Given the description of an element on the screen output the (x, y) to click on. 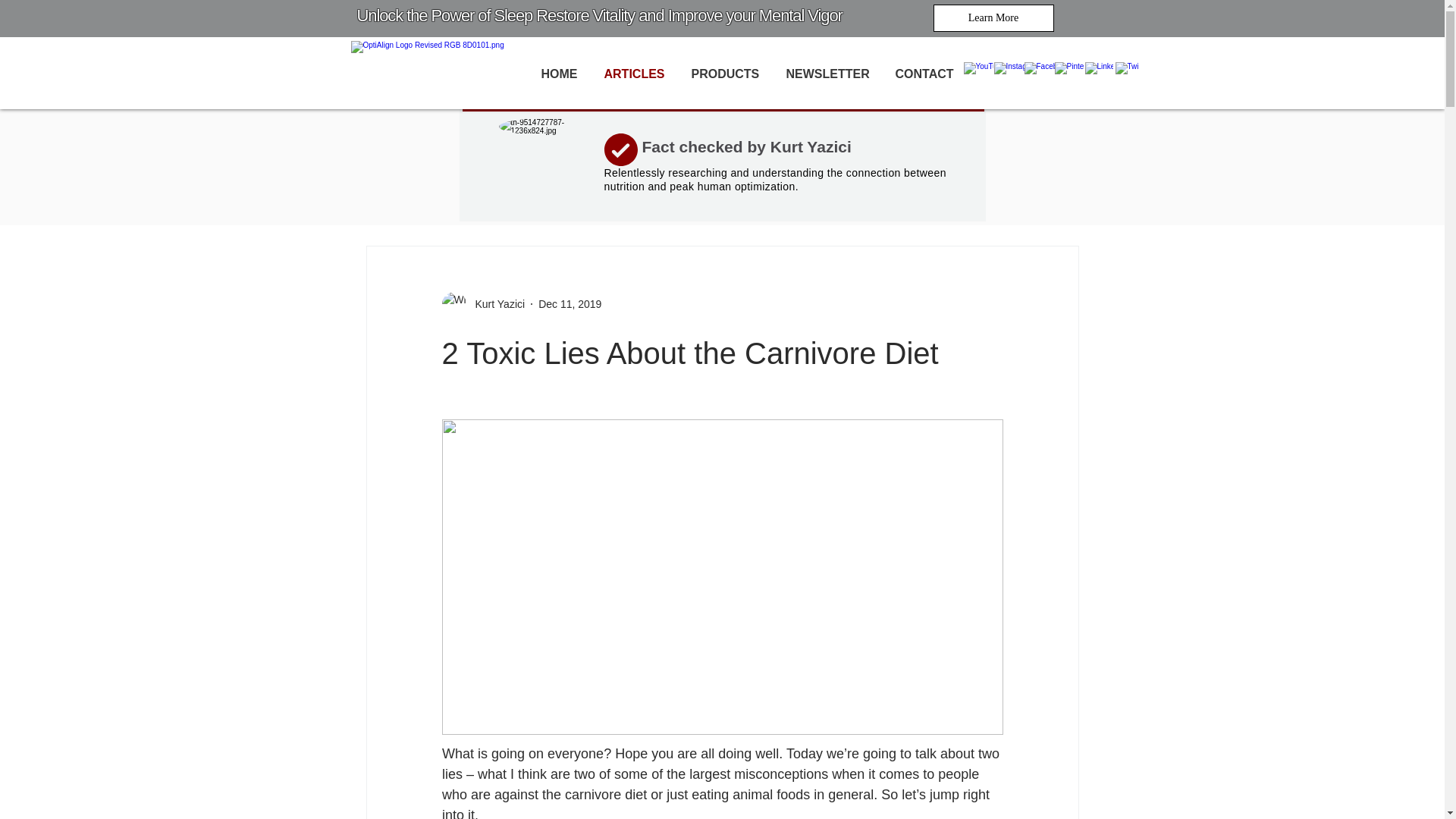
Kurt Yazici (494, 303)
CONTACT (925, 73)
PRODUCTS (726, 73)
HOME (560, 73)
NEWSLETTER (828, 73)
file0.jpg.png (546, 164)
Dec 11, 2019 (569, 303)
Learn More (992, 17)
ARTICLES (635, 73)
Kurt Yazici (482, 303)
